Given the description of an element on the screen output the (x, y) to click on. 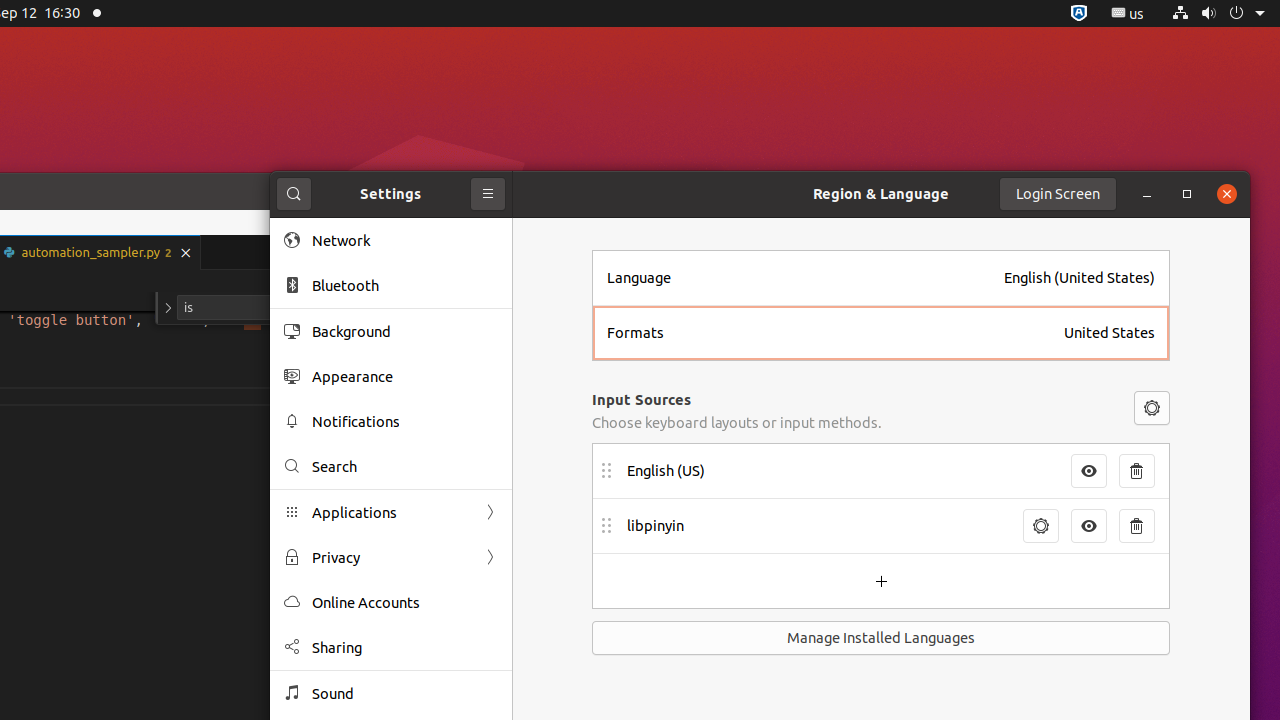
Background Element type: label (405, 331)
Manage Installed Languages Element type: push-button (881, 638)
Add Element type: icon (881, 581)
United States Element type: label (1109, 333)
